Given the description of an element on the screen output the (x, y) to click on. 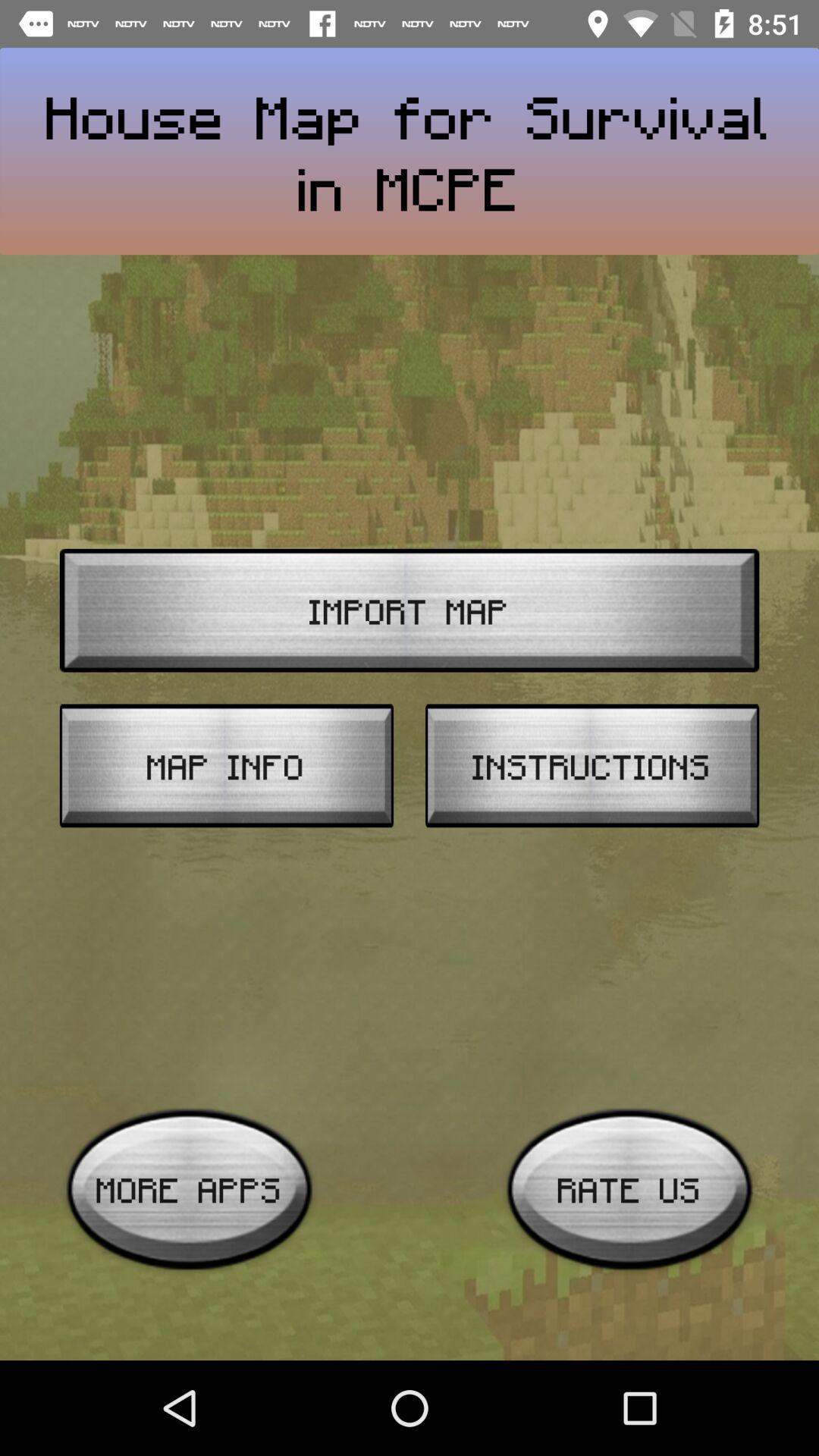
launch icon below the map info icon (189, 1188)
